Given the description of an element on the screen output the (x, y) to click on. 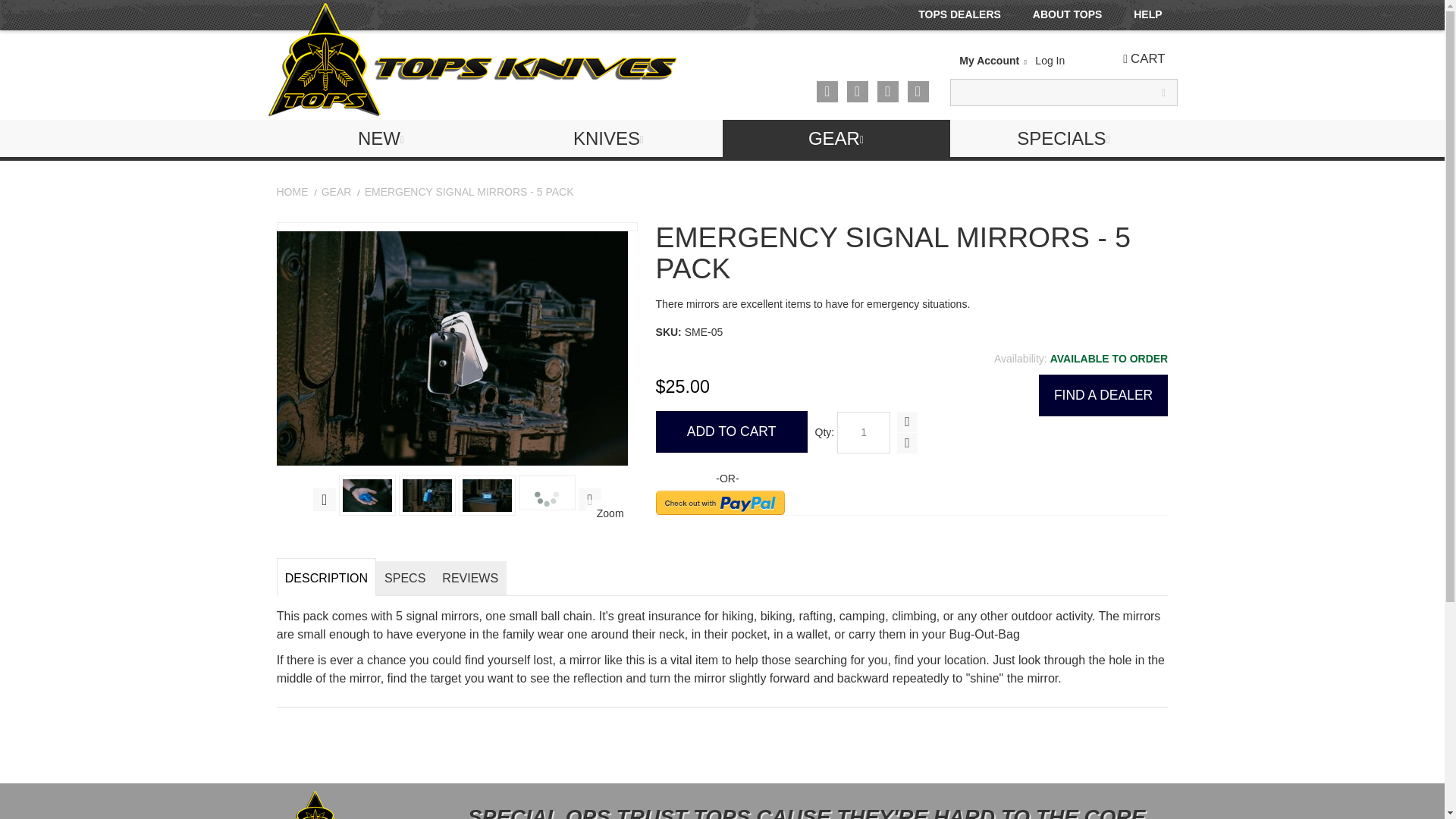
About (1069, 13)
Help (1150, 13)
Log In (1049, 60)
HELP   (1150, 13)
CART (1145, 57)
My Account (994, 60)
TOPS Knives Tactical OPS USA (471, 60)
Log In (1049, 60)
My Account (994, 60)
TOPS DEALERS   (962, 13)
